Given the description of an element on the screen output the (x, y) to click on. 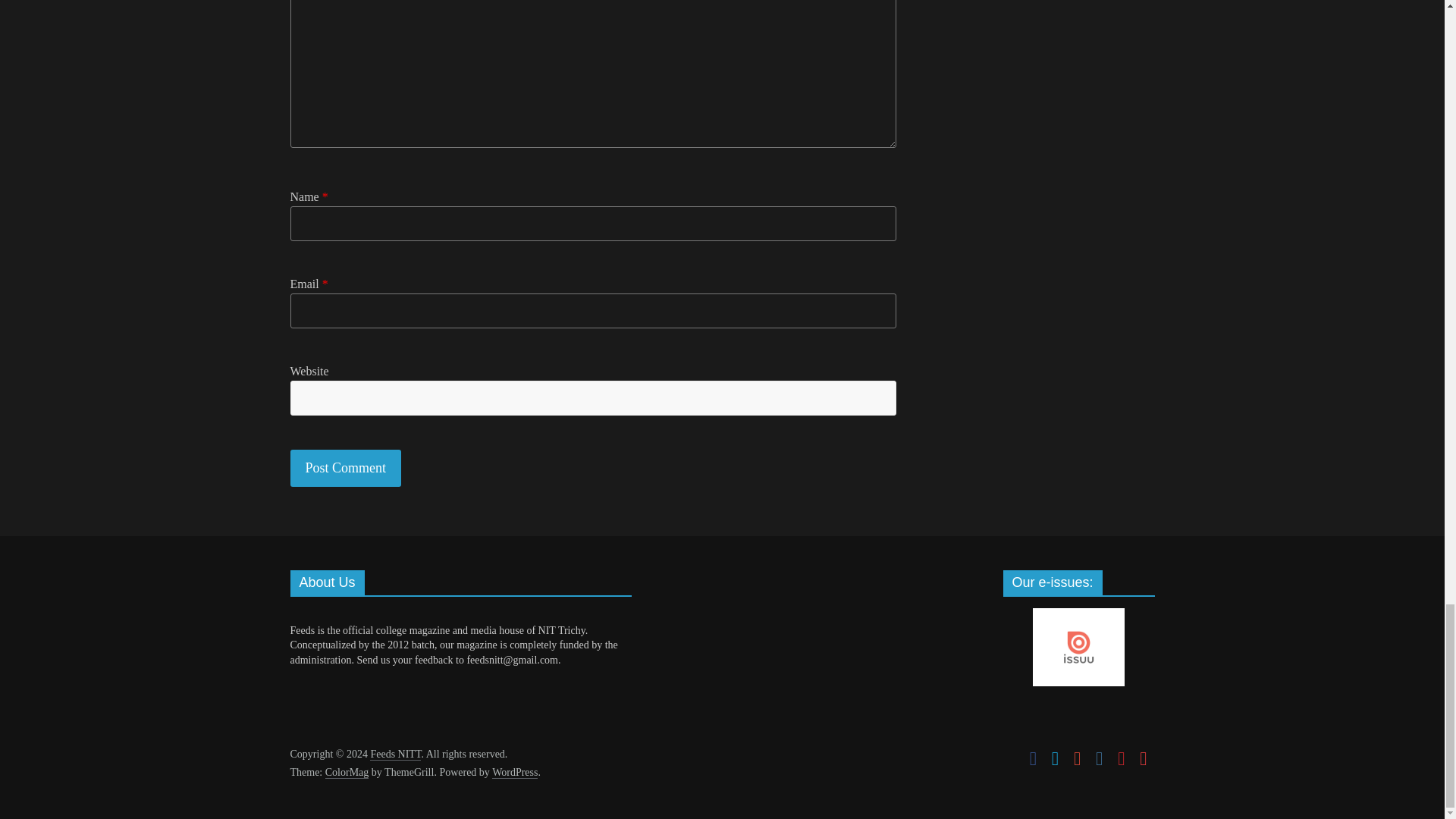
Post Comment (345, 467)
